Given the description of an element on the screen output the (x, y) to click on. 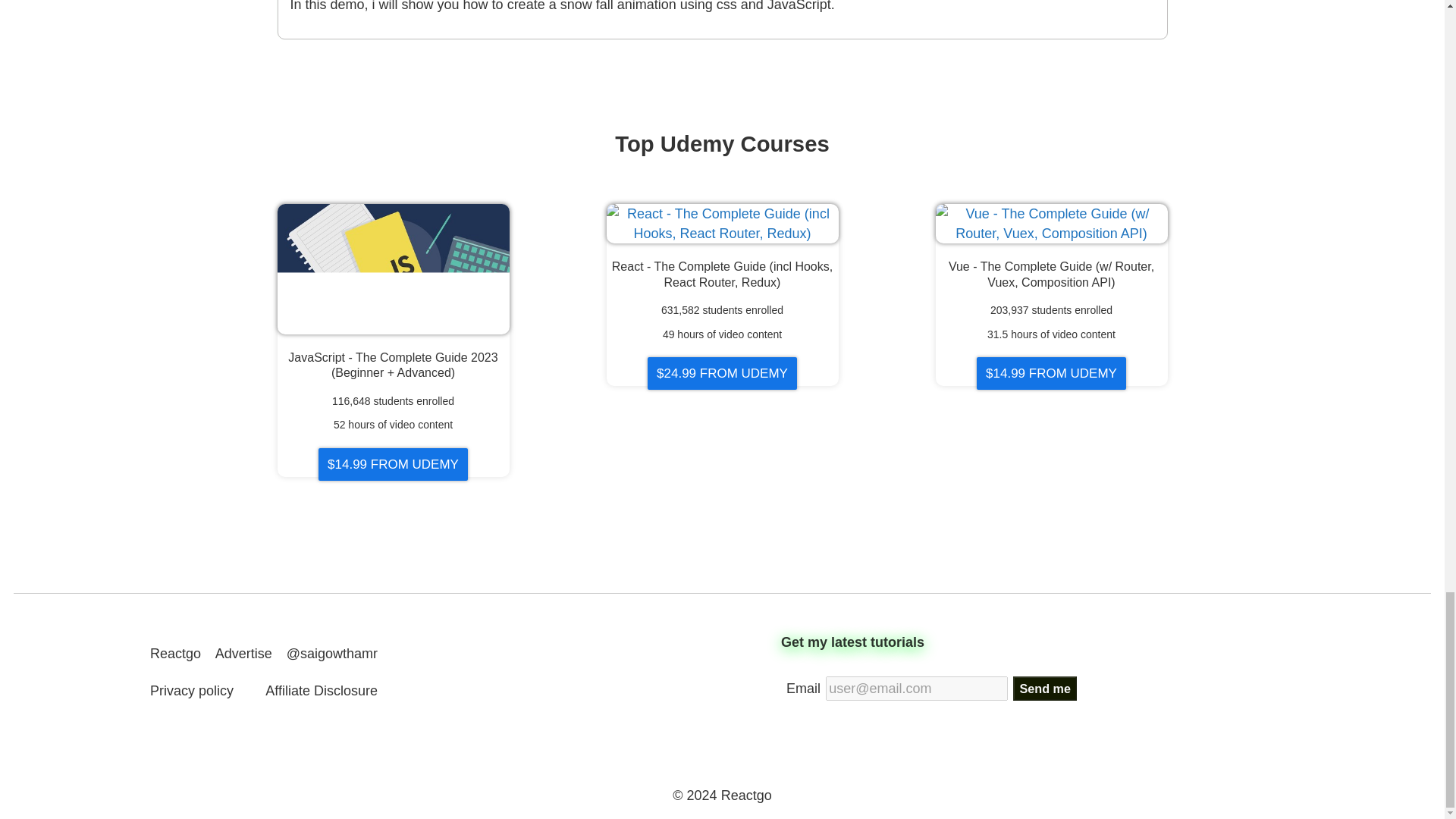
Advertise (243, 653)
Privacy policy (190, 690)
Send me (1044, 688)
Reactgo (174, 653)
Affiliate Disclosure (320, 690)
Send me (1044, 688)
